Given the description of an element on the screen output the (x, y) to click on. 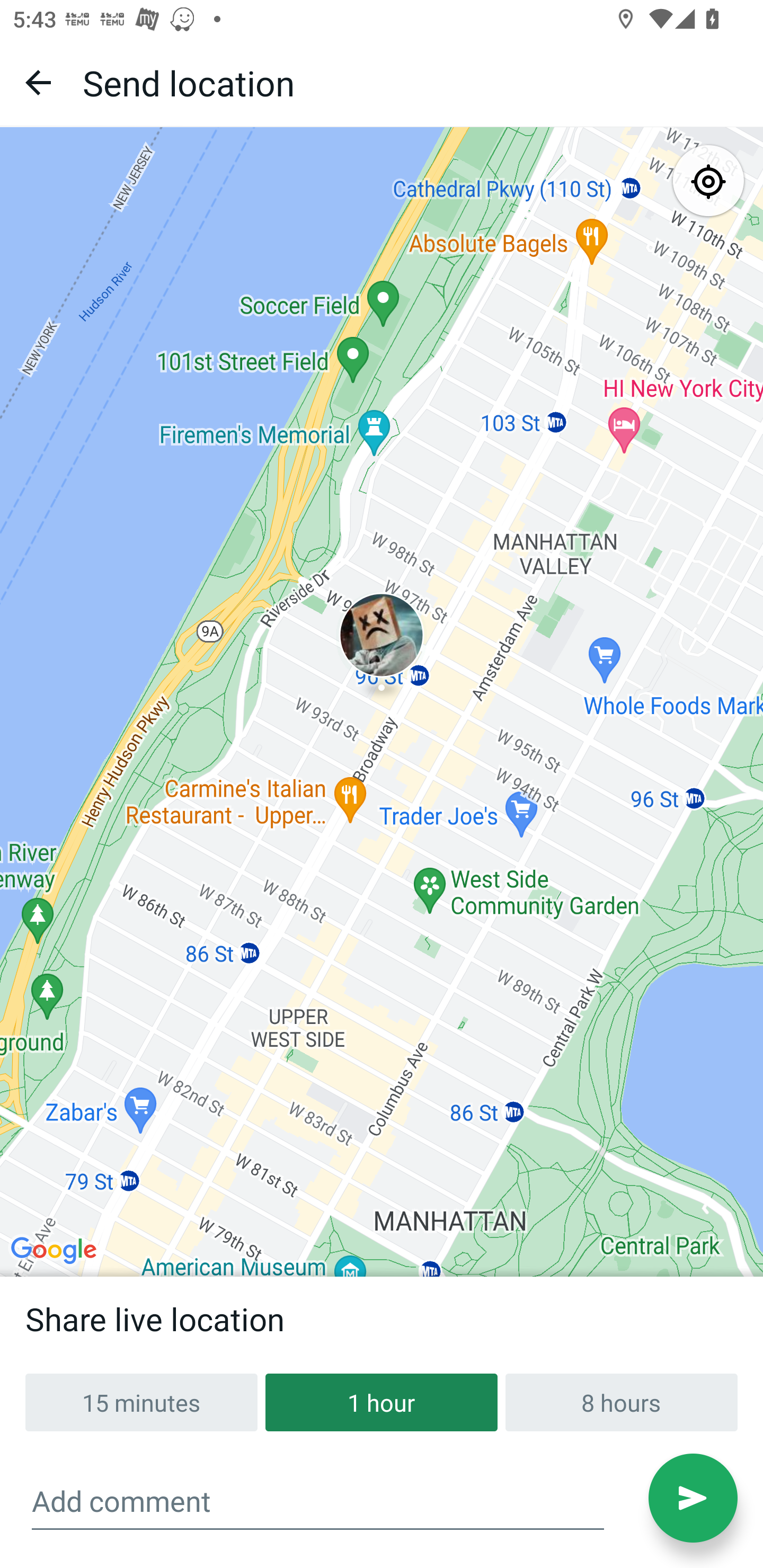
Navigate up (38, 82)
Move to your location (707, 181)
15 minutes (141, 1402)
1 hour (381, 1402)
8 hours (621, 1402)
Send (692, 1497)
Add comment (317, 1500)
